Given the description of an element on the screen output the (x, y) to click on. 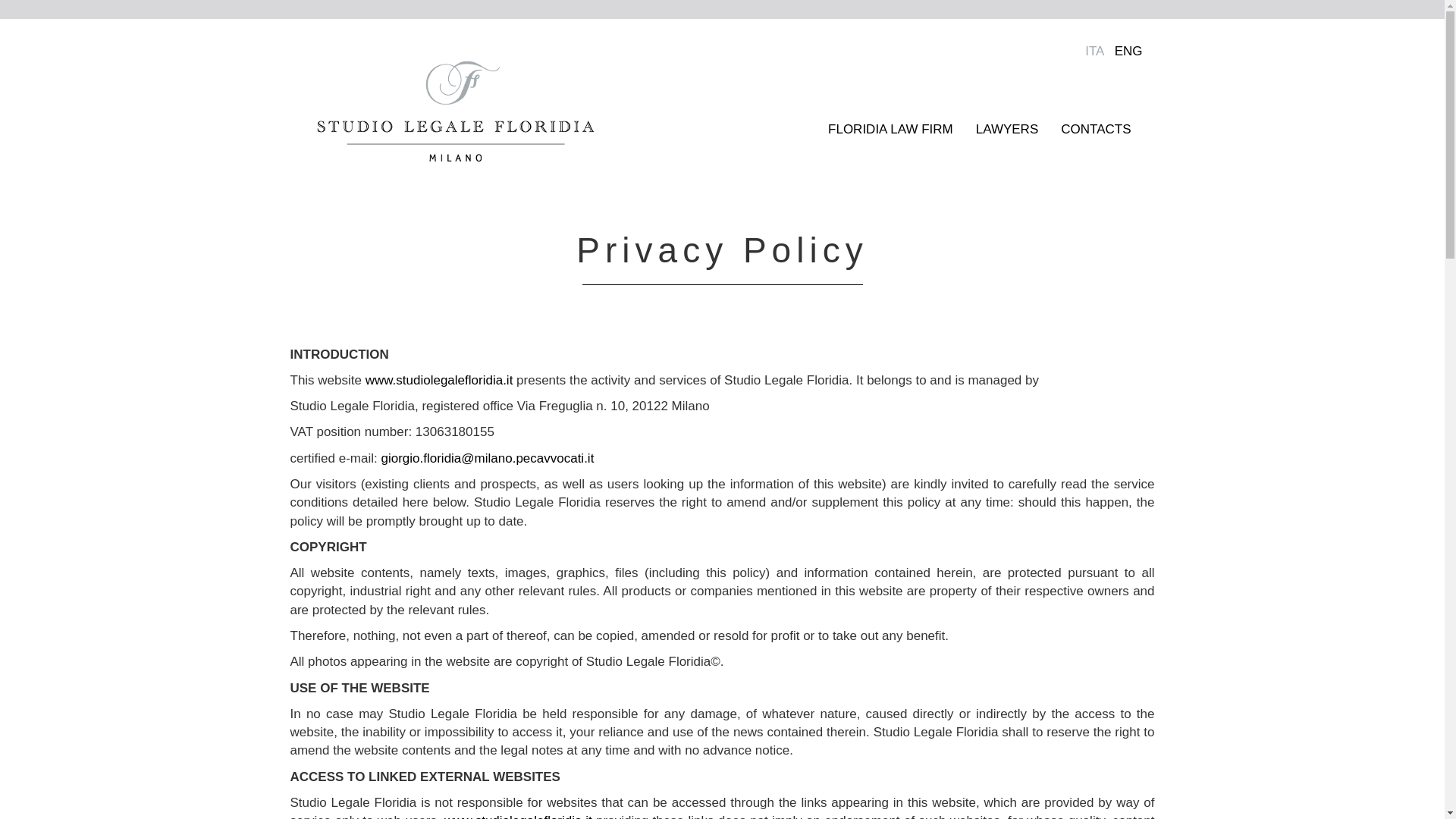
ENG (1128, 51)
ITA (1093, 51)
CONTACTS (1095, 129)
www.studiolegalefloridia.it (518, 816)
LAWYERS (1006, 129)
FLORIDIA LAW FIRM (889, 129)
www.studiolegalefloridia.it (439, 380)
